Given the description of an element on the screen output the (x, y) to click on. 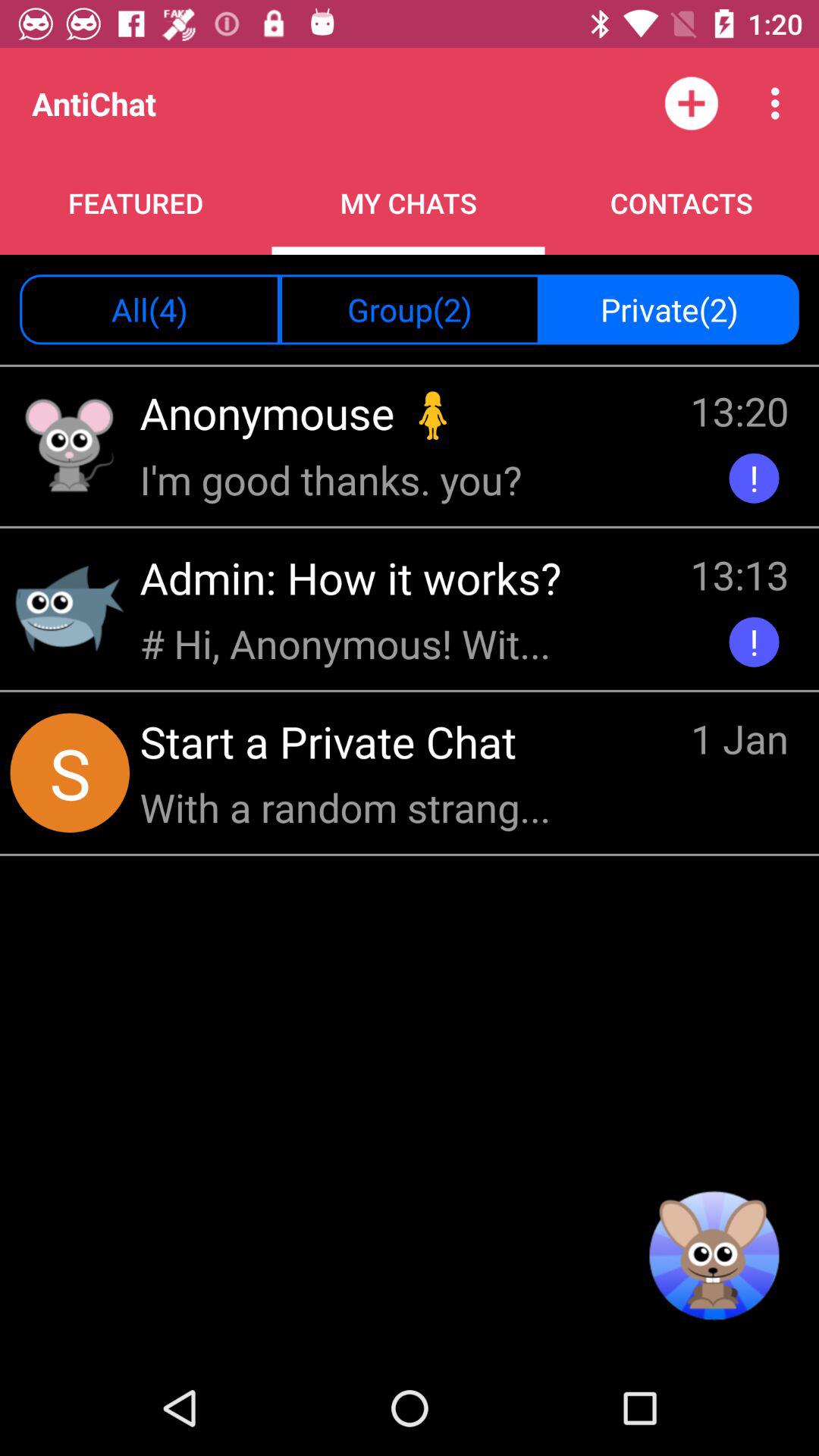
scroll until the i m good item (335, 479)
